Given the description of an element on the screen output the (x, y) to click on. 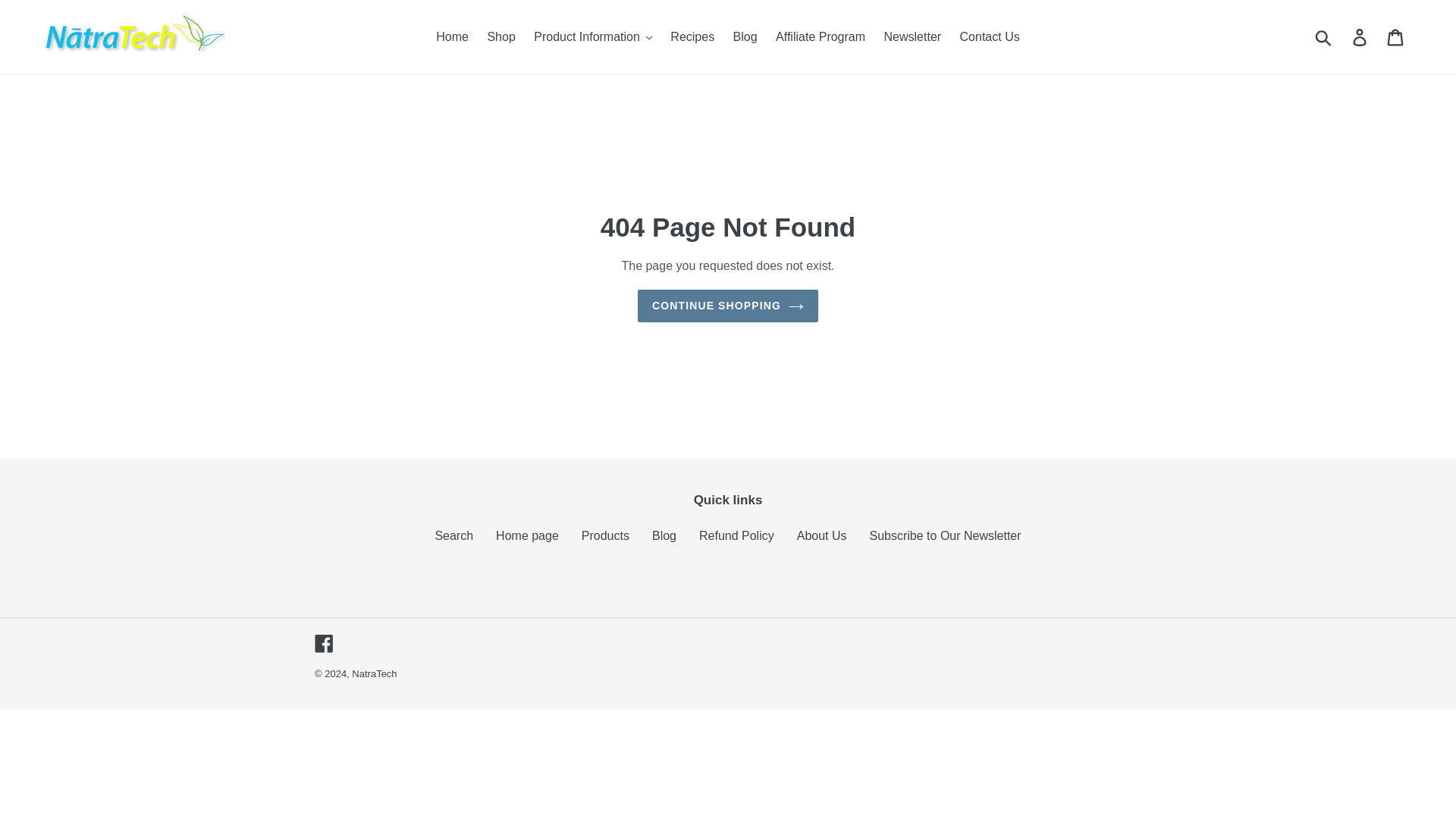
Recipes (692, 36)
Products (604, 535)
Search (453, 535)
Submit (1324, 37)
Home (452, 36)
CONTINUE SHOPPING (727, 305)
Newsletter (912, 36)
Log in (1360, 37)
Contact Us (989, 36)
Shop (500, 36)
Home page (527, 535)
Blog (745, 36)
Affiliate Program (820, 36)
Cart (1395, 37)
